Given the description of an element on the screen output the (x, y) to click on. 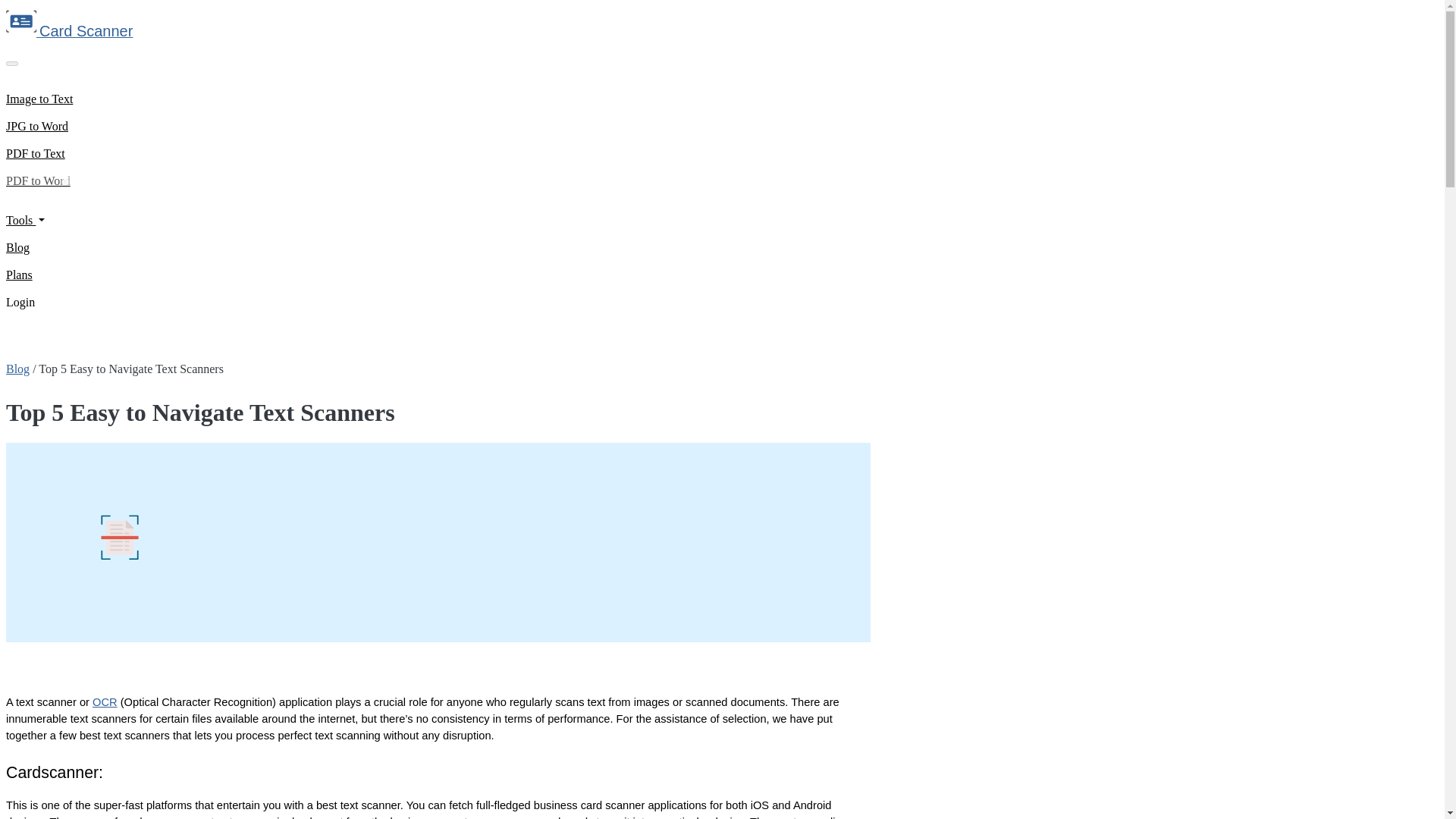
Tools (25, 219)
Image to Text (38, 98)
Plans (18, 274)
OCR (105, 702)
Main Blog Page (17, 368)
JPG to Word (36, 125)
PDF to Text (35, 153)
PDF to Word (37, 180)
Blog (17, 246)
Blog (17, 368)
